Given the description of an element on the screen output the (x, y) to click on. 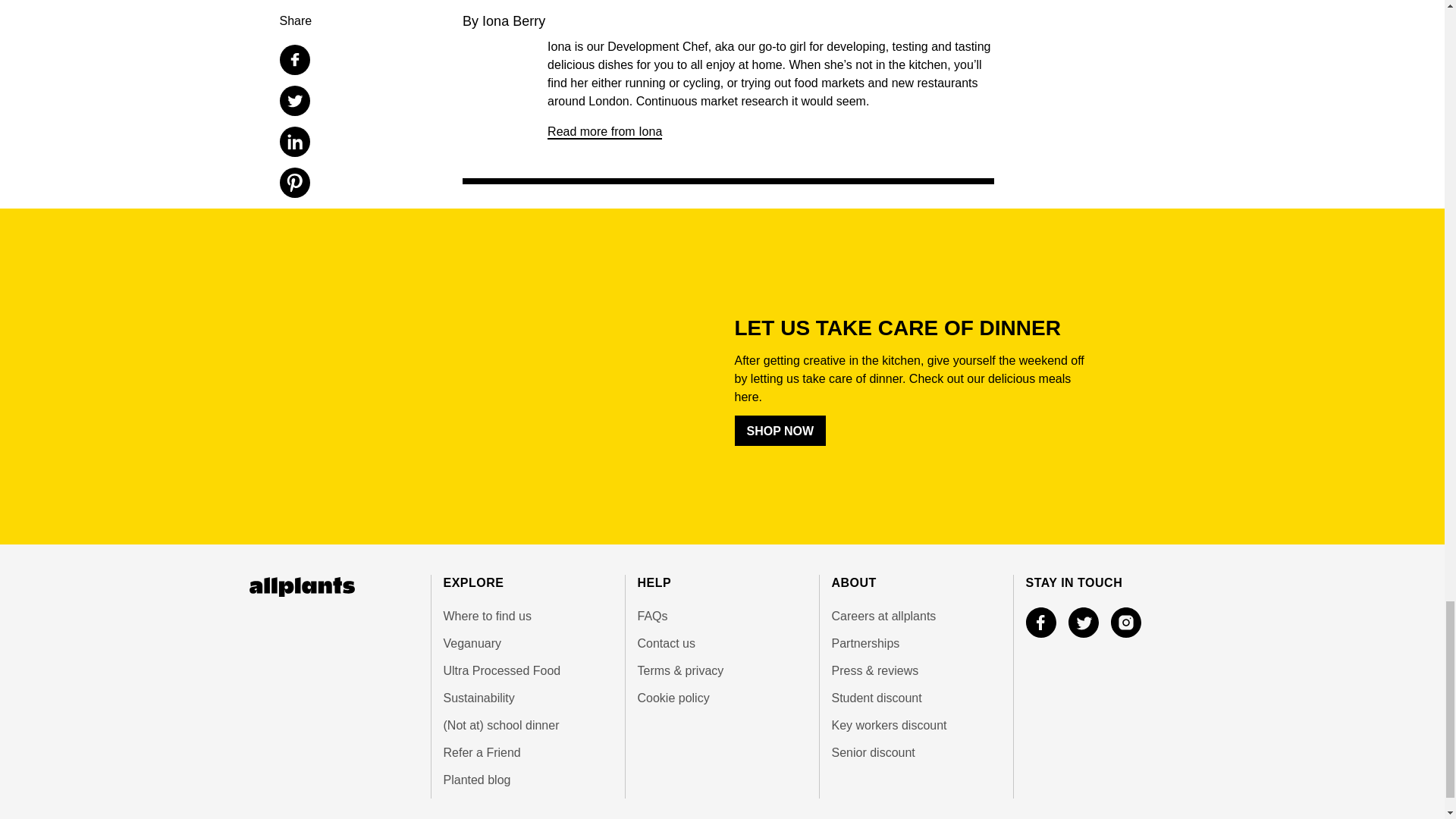
Read more from Iona (604, 132)
Refer a Friend (526, 752)
Partnerships (915, 643)
FAQs (721, 616)
Senior discount (915, 752)
Ultra Processed Food (526, 670)
Key workers discount (915, 725)
Careers at allplants (915, 616)
Student discount (915, 698)
Where to find us (526, 616)
Contact us (721, 643)
Sustainability (526, 698)
Veganuary (526, 643)
SHOP NOW (779, 430)
Planted blog (526, 780)
